Given the description of an element on the screen output the (x, y) to click on. 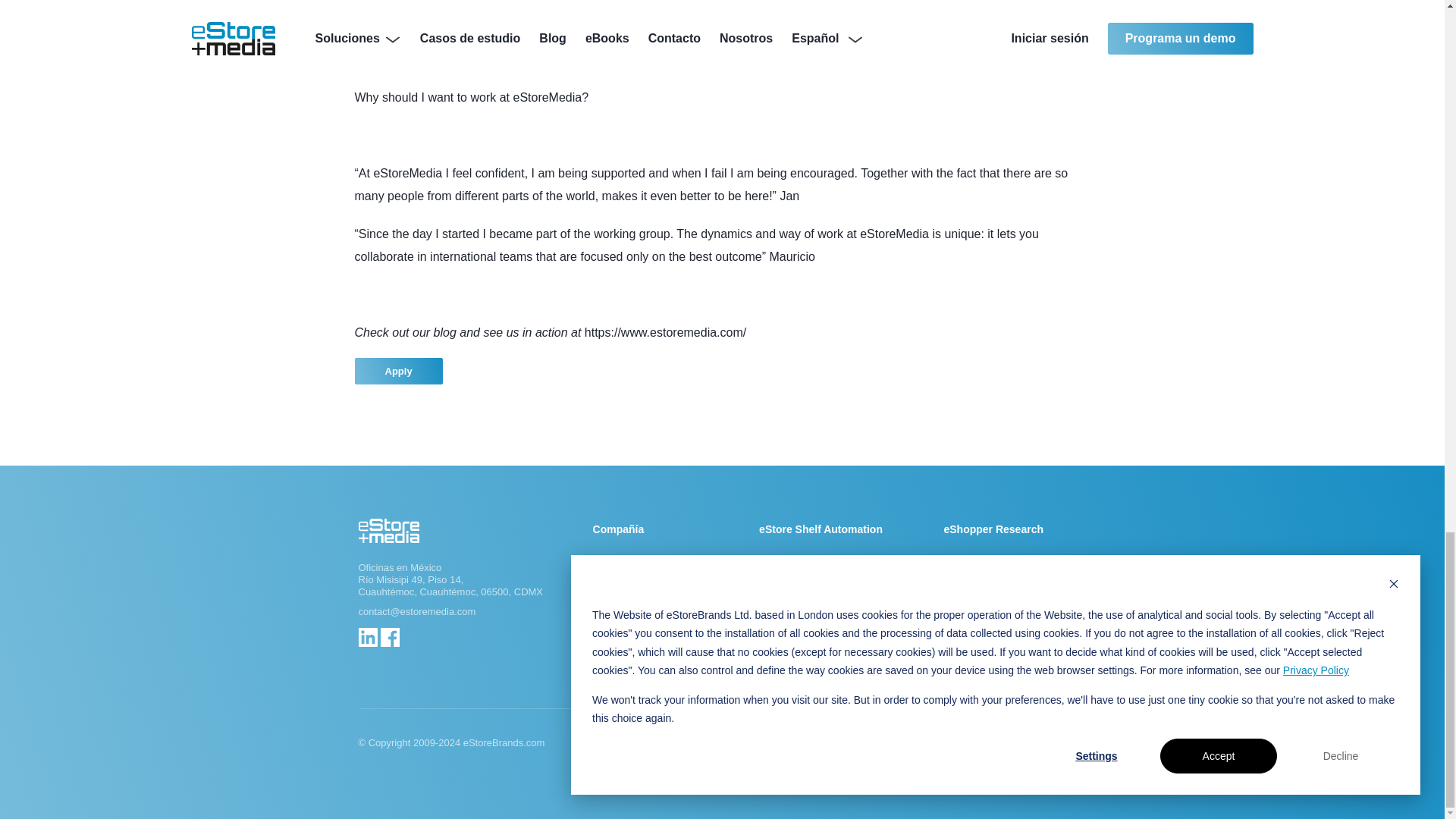
Apply (398, 370)
